Given the description of an element on the screen output the (x, y) to click on. 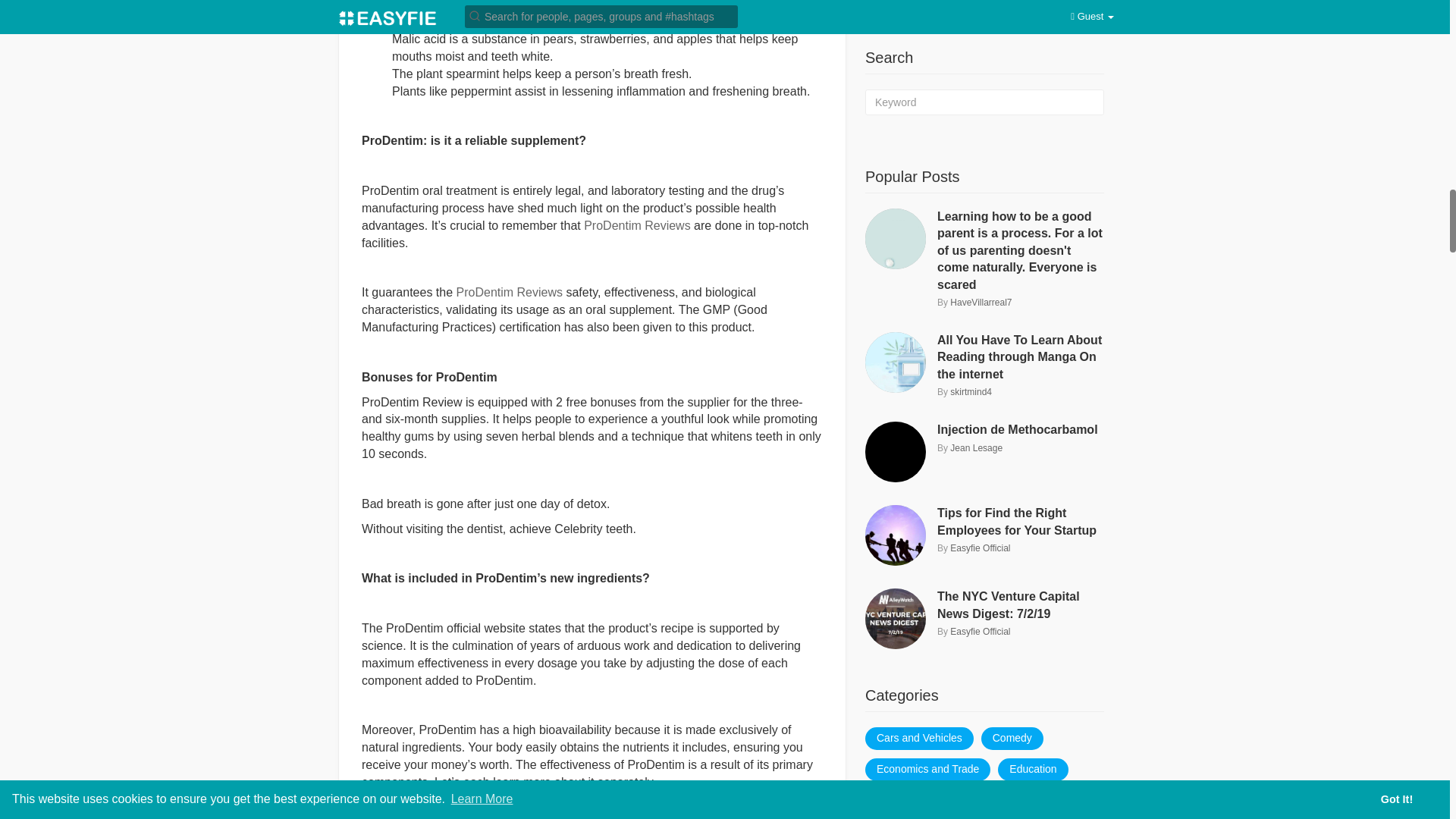
ProDentim Reviews (636, 225)
ProDentim Reviews (509, 291)
